Given the description of an element on the screen output the (x, y) to click on. 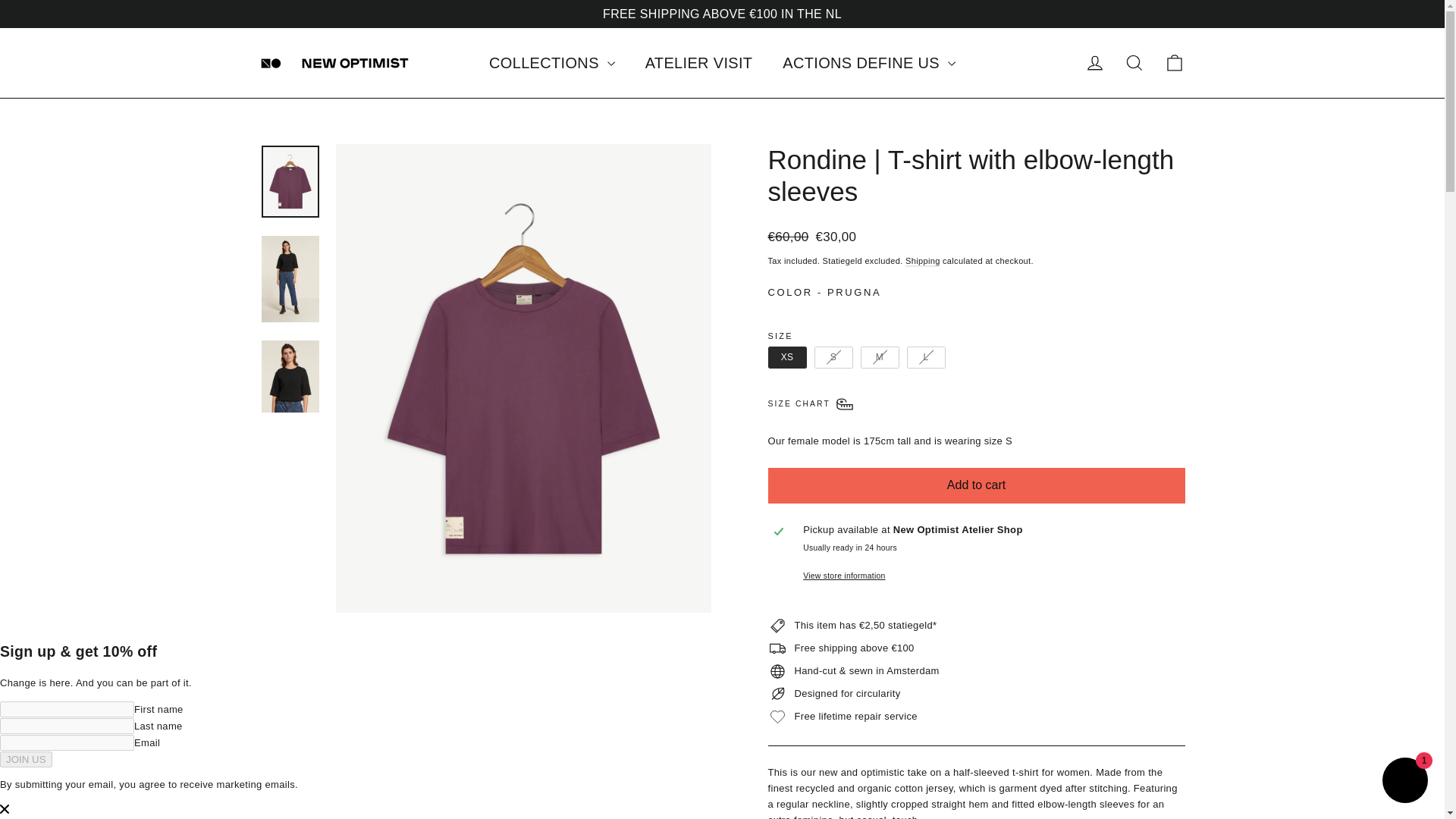
icon-bag-minimal (1174, 62)
Shopify online store chat (1134, 63)
ATELIER VISIT (1404, 781)
account (699, 62)
icon-search (1094, 62)
